Given the description of an element on the screen output the (x, y) to click on. 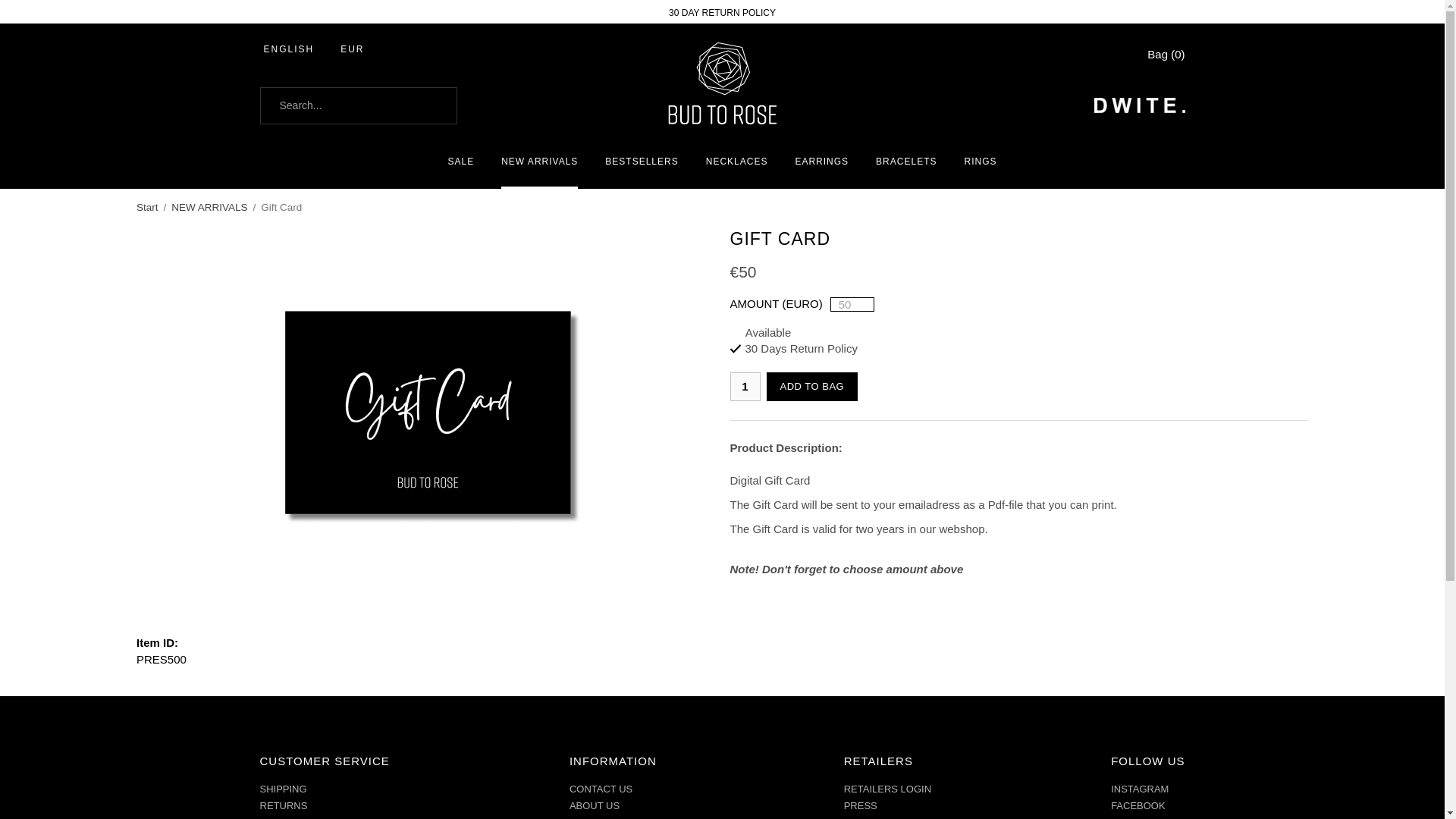
SHIPPING (282, 788)
ADD TO BAG (811, 386)
NEW ARRIVALS (209, 207)
Quantity (744, 386)
NEW ARRIVALS (209, 207)
NEW ARRIVALS (539, 162)
ABOUT US (594, 805)
BRACELETS (906, 162)
RETURNS (283, 805)
CONTACT US (600, 788)
TERMS (276, 817)
PRESS (860, 805)
Start (147, 207)
INSTAGRAM (1139, 788)
NECKLACES (737, 162)
